Given the description of an element on the screen output the (x, y) to click on. 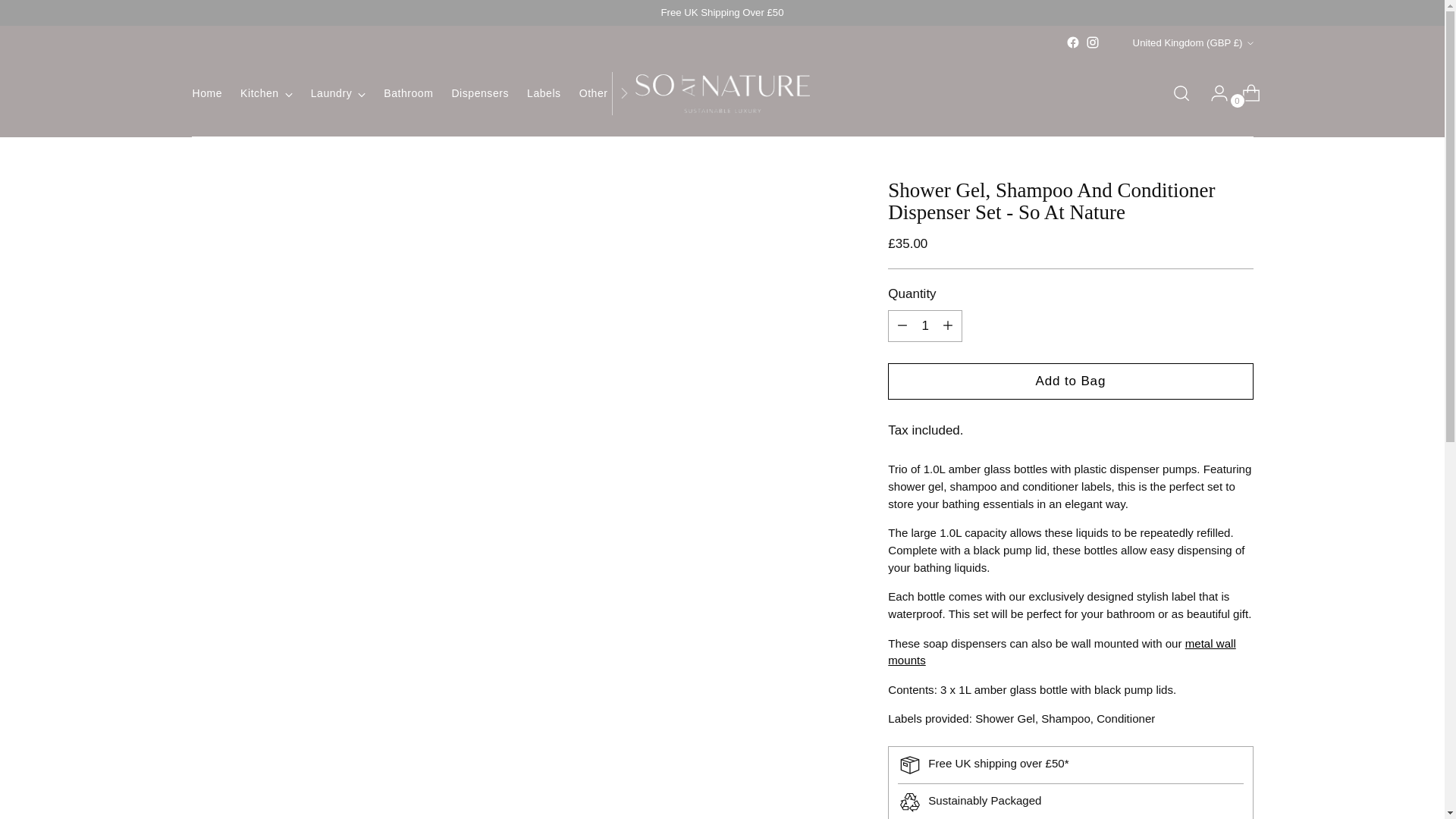
Contact (785, 92)
Home (207, 92)
Kitchen (266, 92)
So At Nature on Instagram (1092, 42)
Inspirations (669, 92)
0 (1245, 92)
So At Nature on Facebook (1072, 42)
Laundry (338, 92)
